Given the description of an element on the screen output the (x, y) to click on. 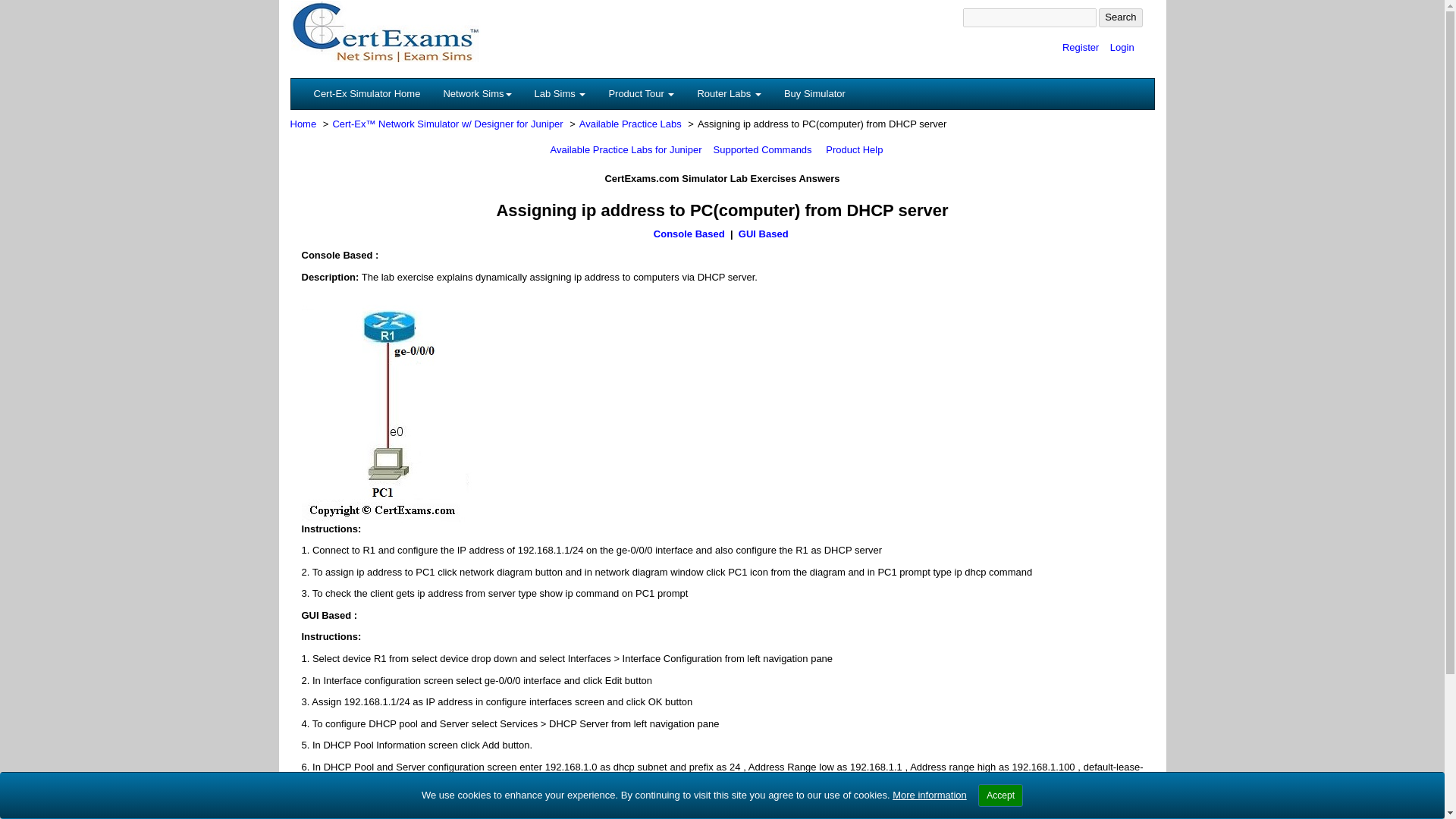
Console Based (689, 233)
Available Practice Labs (630, 123)
Product Tour (640, 93)
Router Labs (728, 93)
Home (302, 123)
Search (1120, 17)
Search (1120, 17)
Supported Commands (762, 149)
Cert-Ex Simulator Home (365, 93)
Login (1121, 47)
Lab Sims (559, 93)
GUI Based  (764, 233)
Product Help (853, 149)
Buy Simulator (815, 93)
Available Practice Labs for Juniper (625, 149)
